Given the description of an element on the screen output the (x, y) to click on. 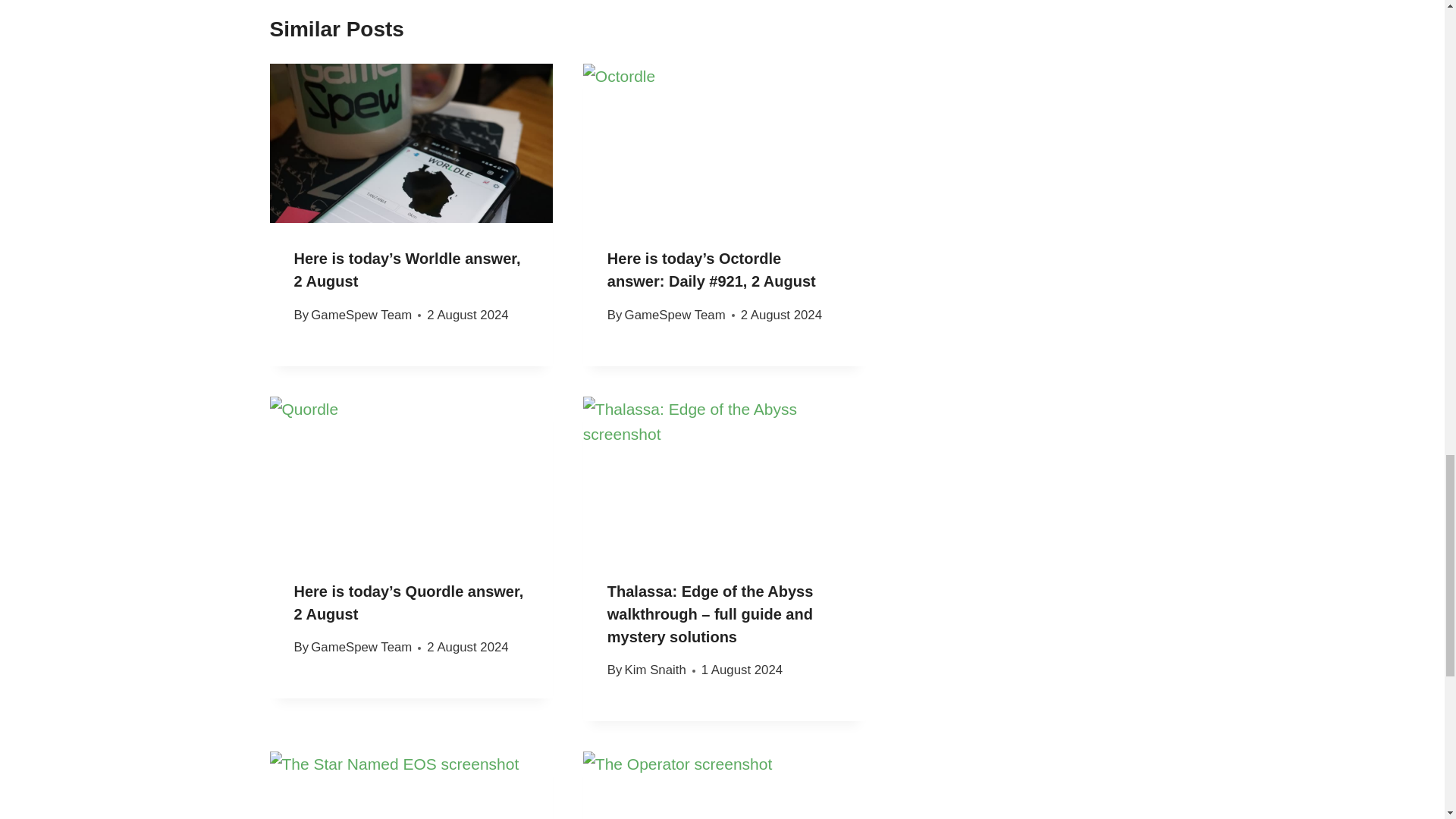
GameSpew Team (361, 314)
GameSpew Team (674, 314)
